Given the description of an element on the screen output the (x, y) to click on. 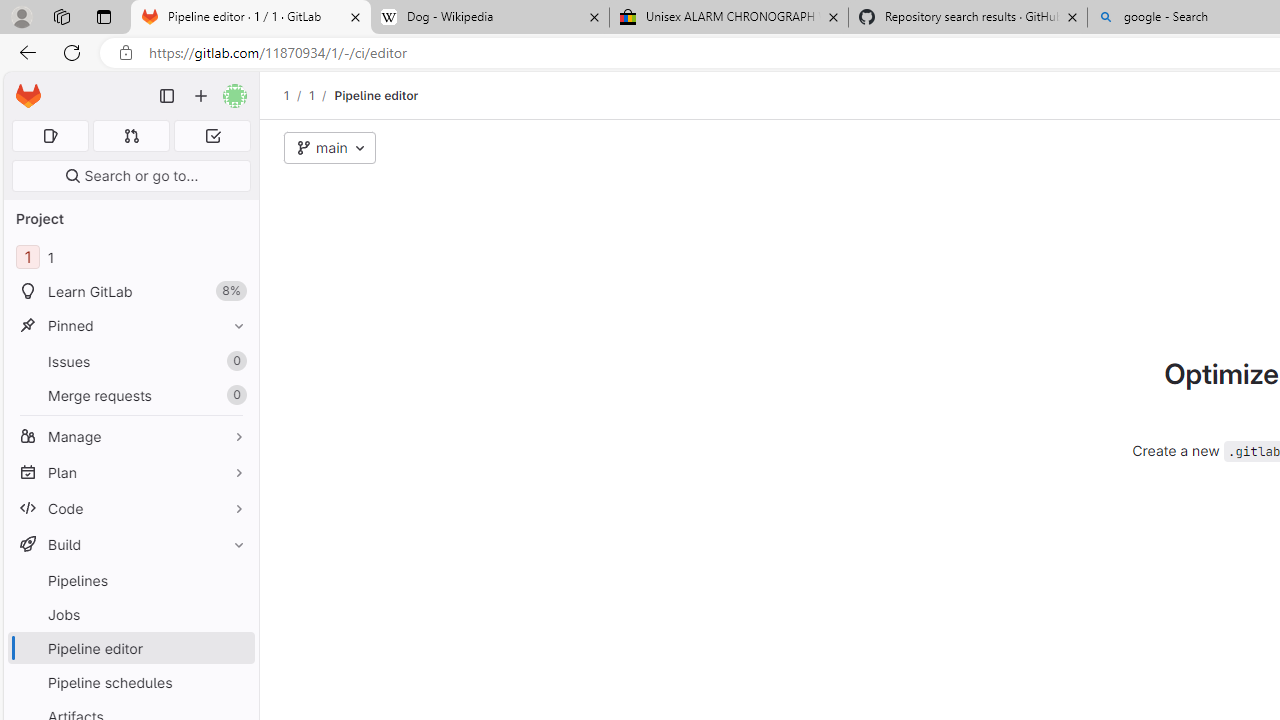
To-Do list 0 (212, 136)
1 1 (130, 257)
Issues 0 (130, 361)
Code (130, 507)
Unpin Merge requests (234, 395)
Pipeline schedules (130, 682)
Pin Pipeline schedules (234, 682)
Jobs (130, 614)
Pipelines (130, 579)
Dog - Wikipedia (490, 17)
Pinned (130, 325)
Jobs (130, 614)
Unpin Issues (234, 361)
